Given the description of an element on the screen output the (x, y) to click on. 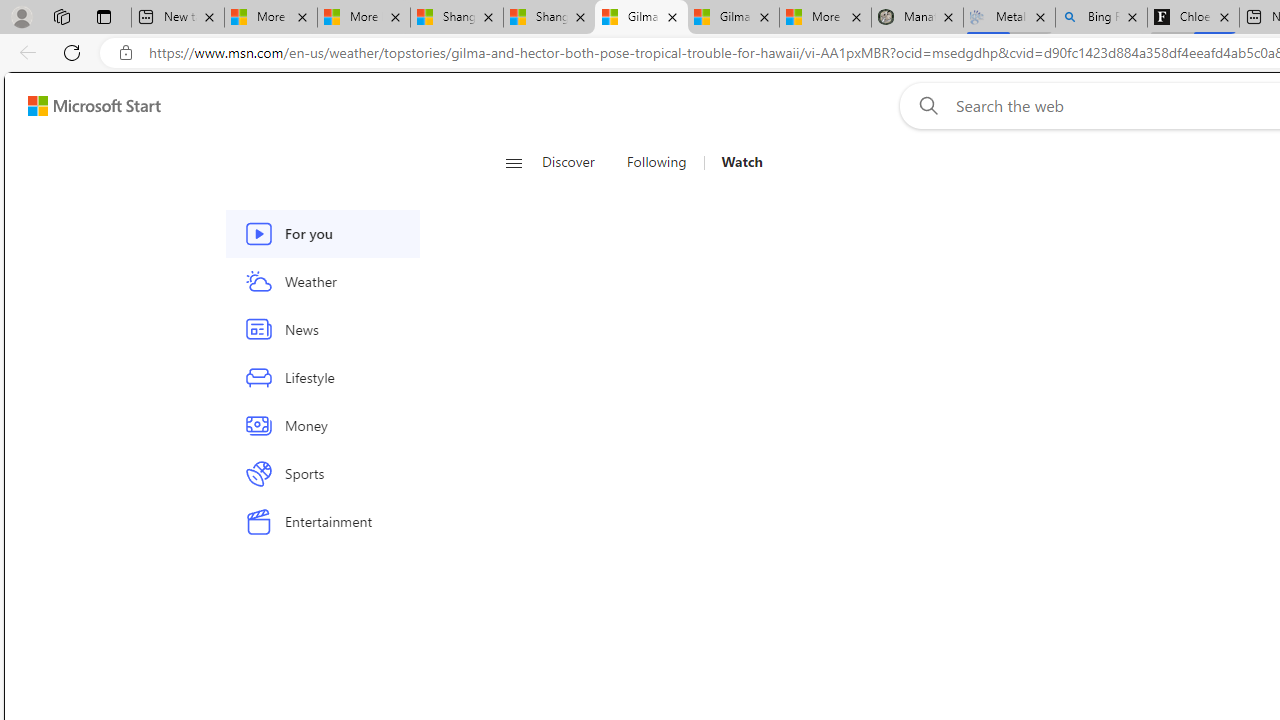
Chloe Sorvino (1193, 17)
Class: button-glyph (513, 162)
Open navigation menu (513, 162)
Manatee Mortality Statistics | FWC (916, 17)
